Given the description of an element on the screen output the (x, y) to click on. 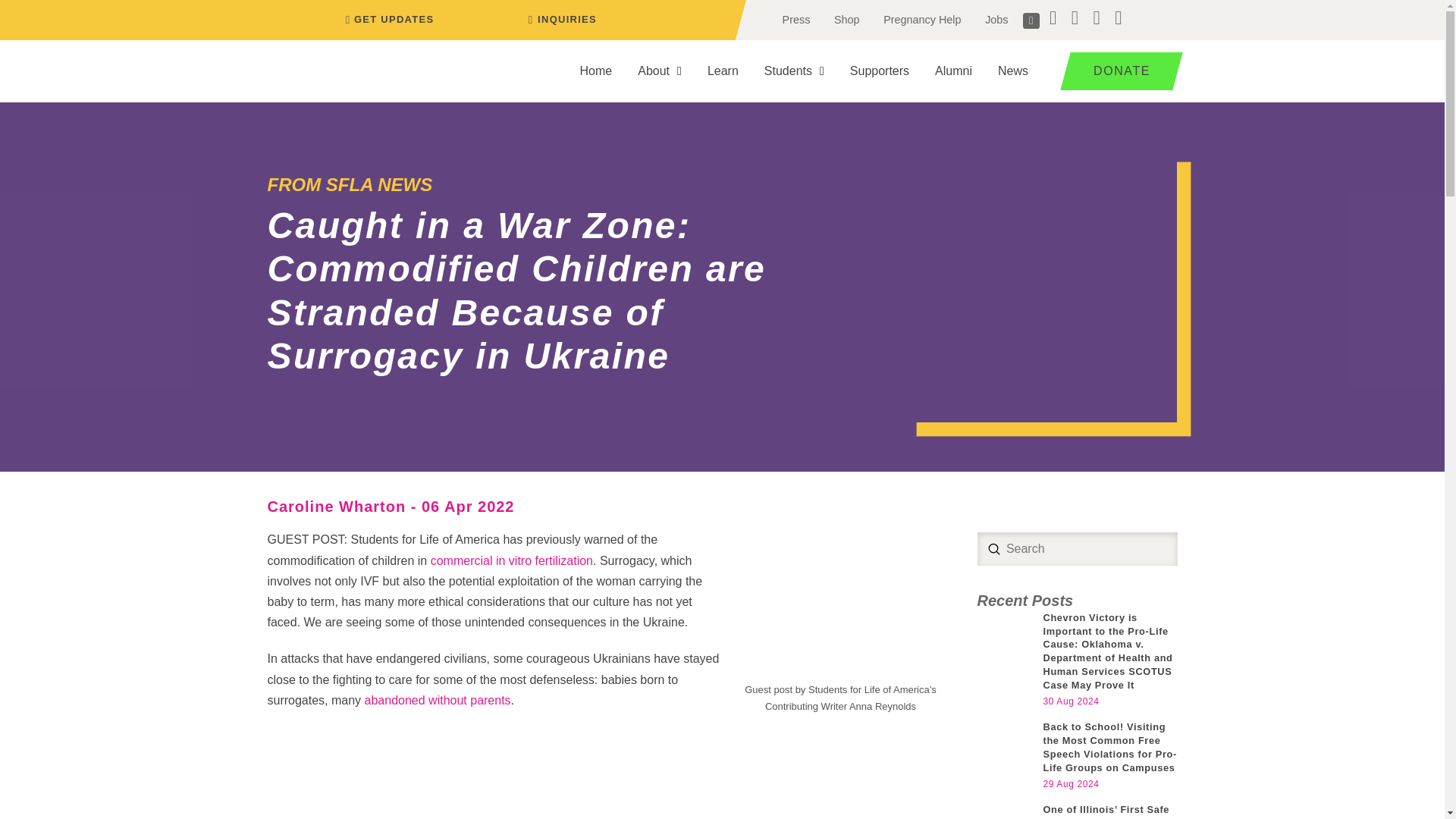
Jobs (996, 20)
commercial in vitro fertilization (511, 560)
DONATE (1115, 71)
Students (794, 71)
abandoned without parents (438, 699)
GET UPDATES (386, 20)
News (1013, 71)
Home (596, 71)
Press (796, 20)
Pregnancy Help (921, 20)
